Given the description of an element on the screen output the (x, y) to click on. 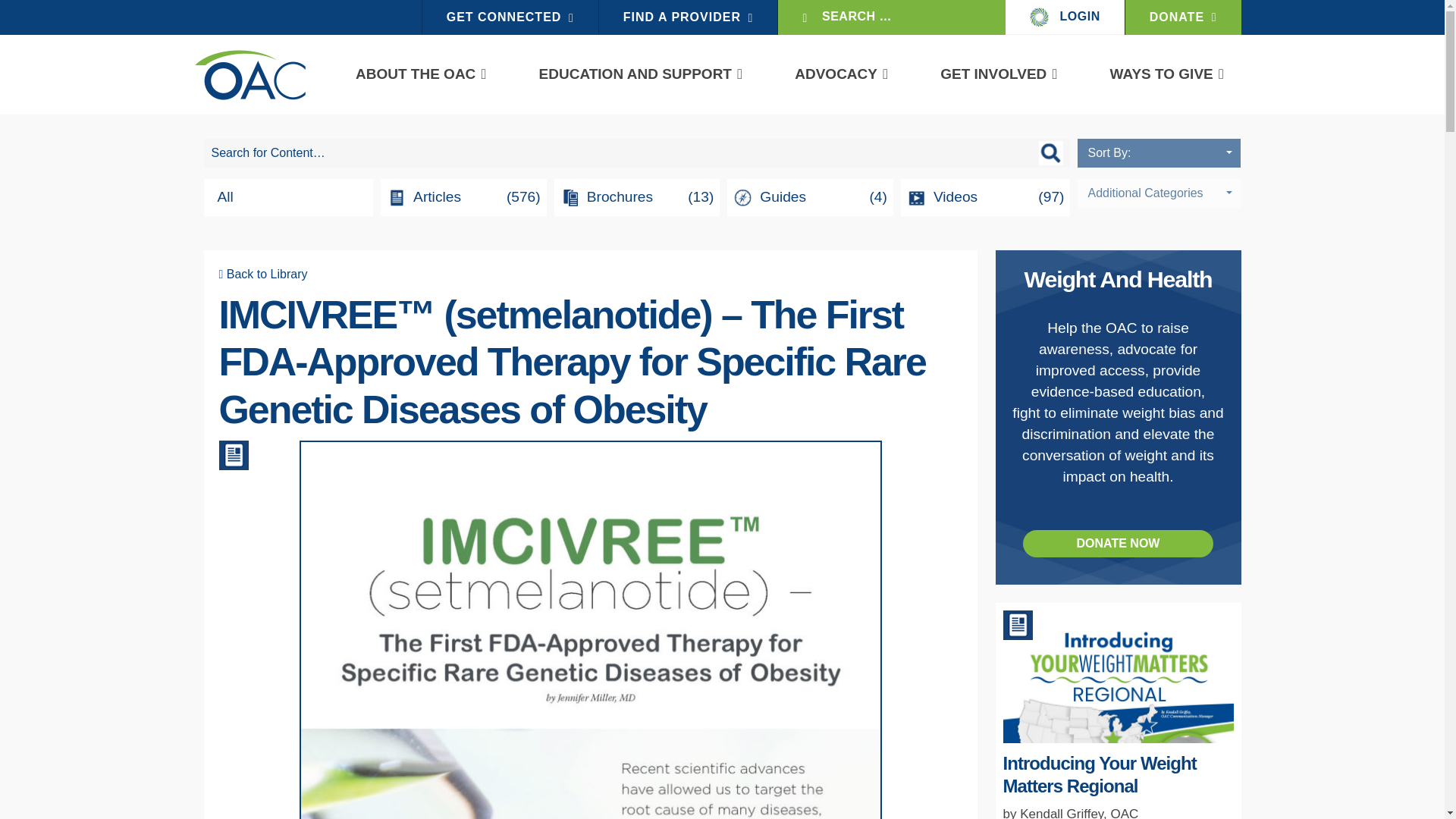
EDUCATION AND SUPPORT (635, 74)
Search for: (636, 152)
DONATE (1183, 17)
GET CONNECTED (510, 17)
Search (12, 12)
ABOUT THE OAC (415, 74)
FIND A PROVIDER (687, 17)
Introducing Your Weight Matters Regional (1118, 758)
Introducing Your Weight Matters Regional (1099, 774)
ADVOCACY (835, 74)
LOGIN (1065, 17)
